Given the description of an element on the screen output the (x, y) to click on. 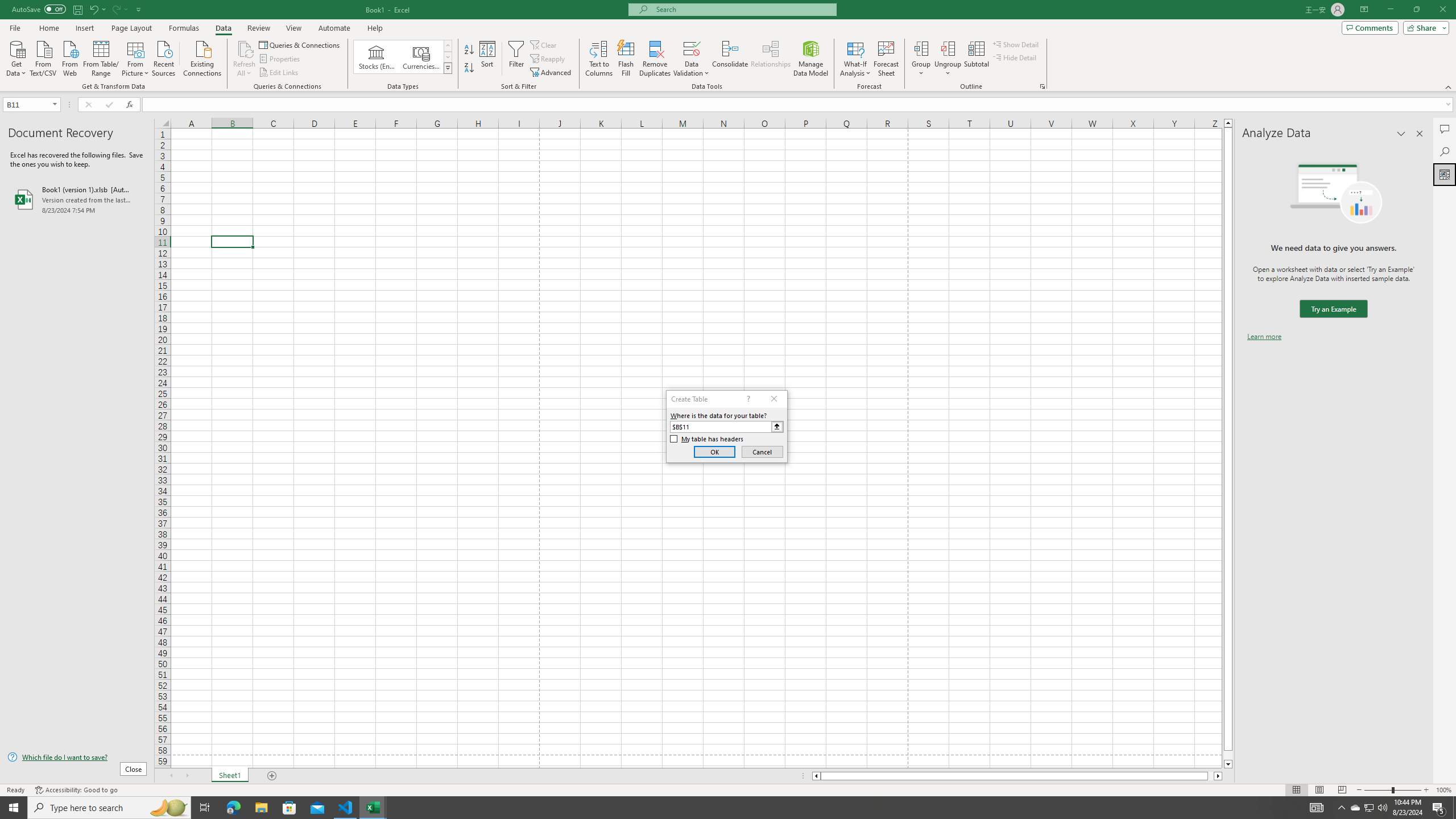
Scroll Left (171, 775)
View (293, 28)
Close (1442, 9)
Sort A to Z (469, 49)
Page right (1211, 775)
Line down (1228, 764)
Currencies (English) (420, 56)
File Tab (15, 27)
We need data to give you answers. Try an Example (1333, 308)
From Table/Range (100, 57)
Manage Data Model (810, 58)
Open (54, 104)
Ungroup... (947, 48)
Clear (544, 44)
